Given the description of an element on the screen output the (x, y) to click on. 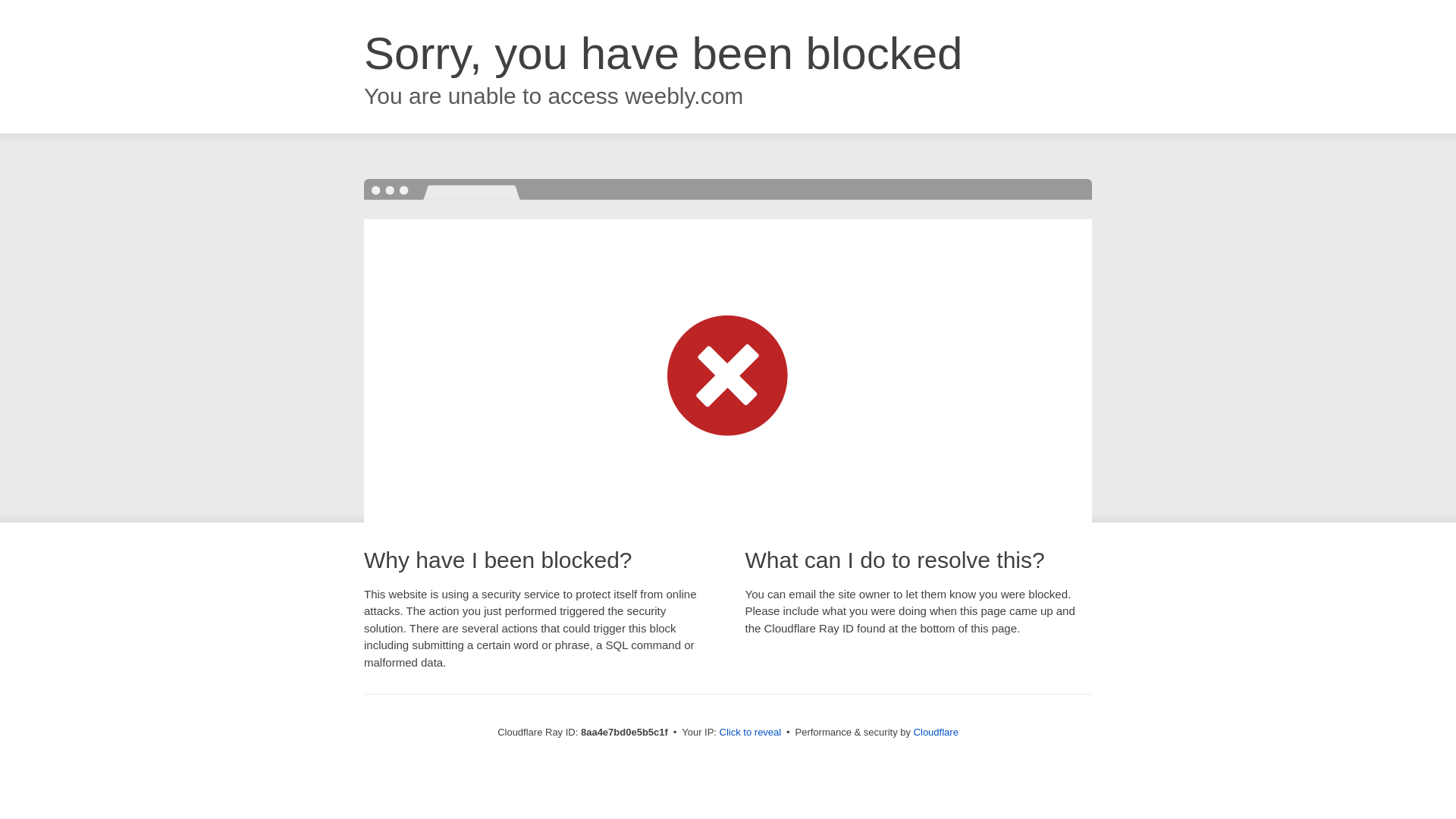
Click to reveal (750, 732)
Cloudflare (936, 731)
